Given the description of an element on the screen output the (x, y) to click on. 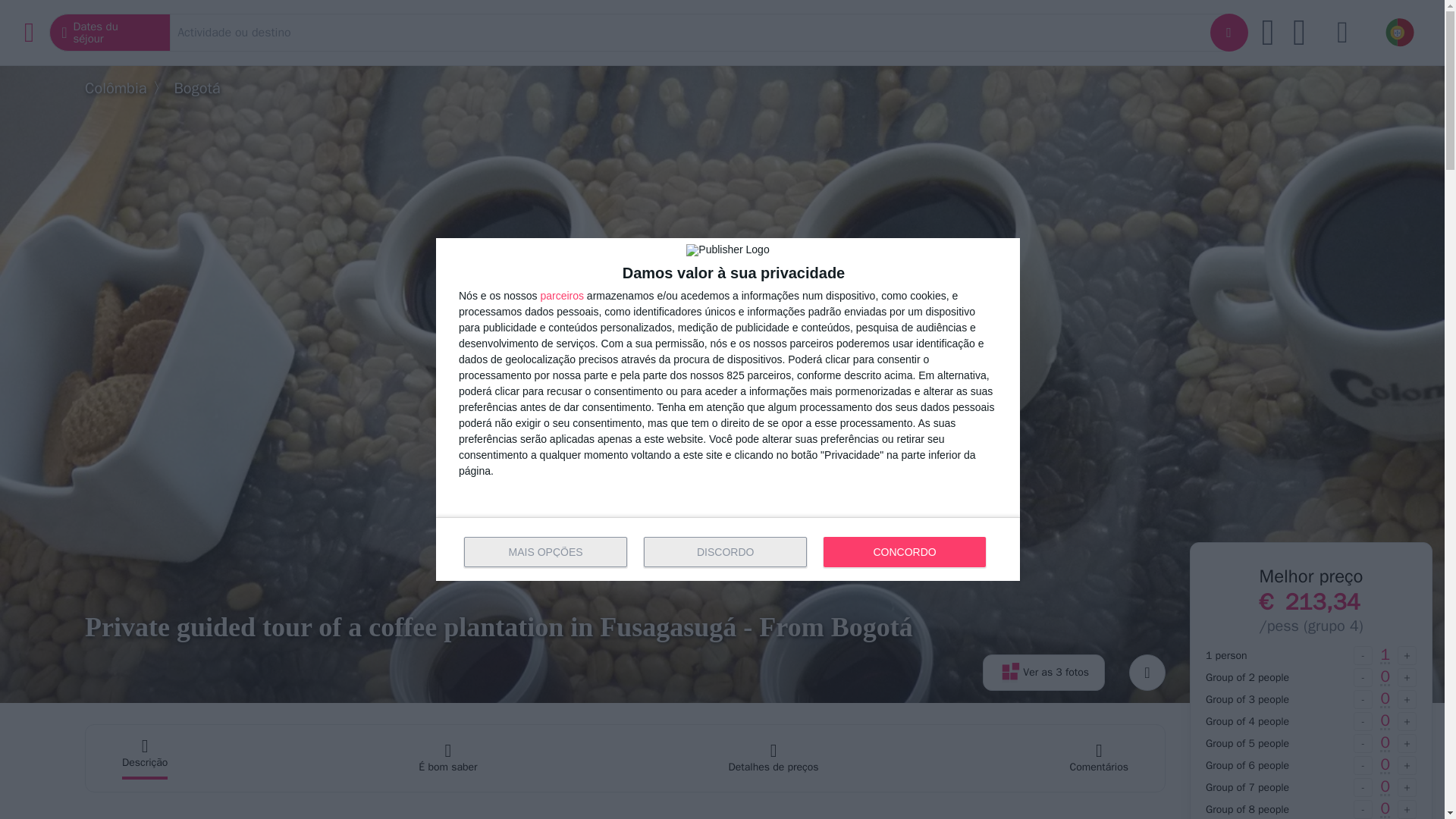
parceiros (561, 295)
DISCORDO (724, 552)
- (1363, 699)
Ver as 3 fotos (1043, 672)
- (1363, 655)
CONCORDO (904, 552)
- (1363, 677)
